Given the description of an element on the screen output the (x, y) to click on. 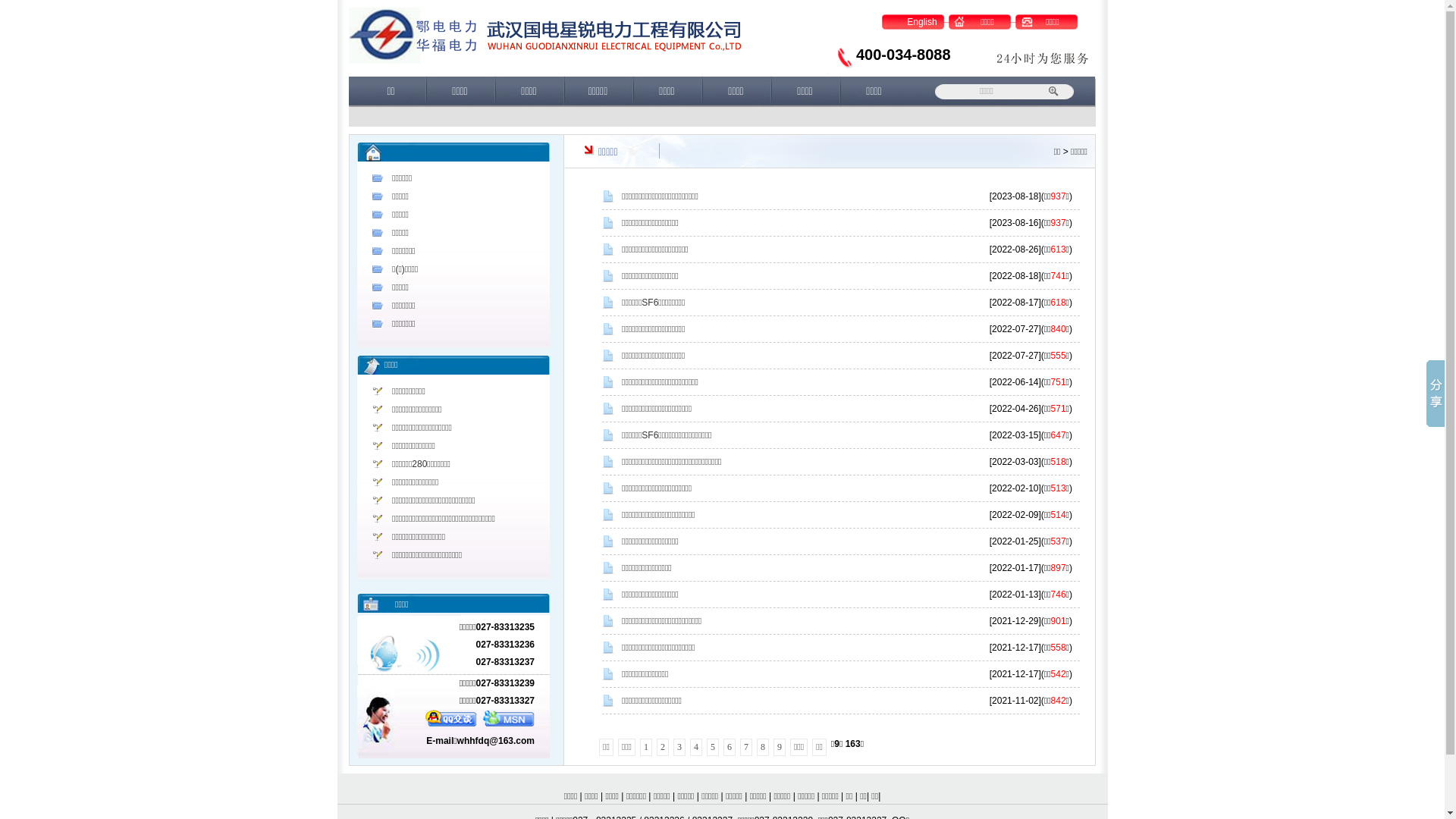
4 Element type: text (695, 747)
1 Element type: text (645, 747)
6 Element type: text (729, 747)
2 Element type: text (662, 747)
7 Element type: text (745, 747)
9 Element type: text (779, 747)
8 Element type: text (762, 747)
3 Element type: text (679, 747)
5 Element type: text (712, 747)
English Element type: text (921, 21)
